Given the description of an element on the screen output the (x, y) to click on. 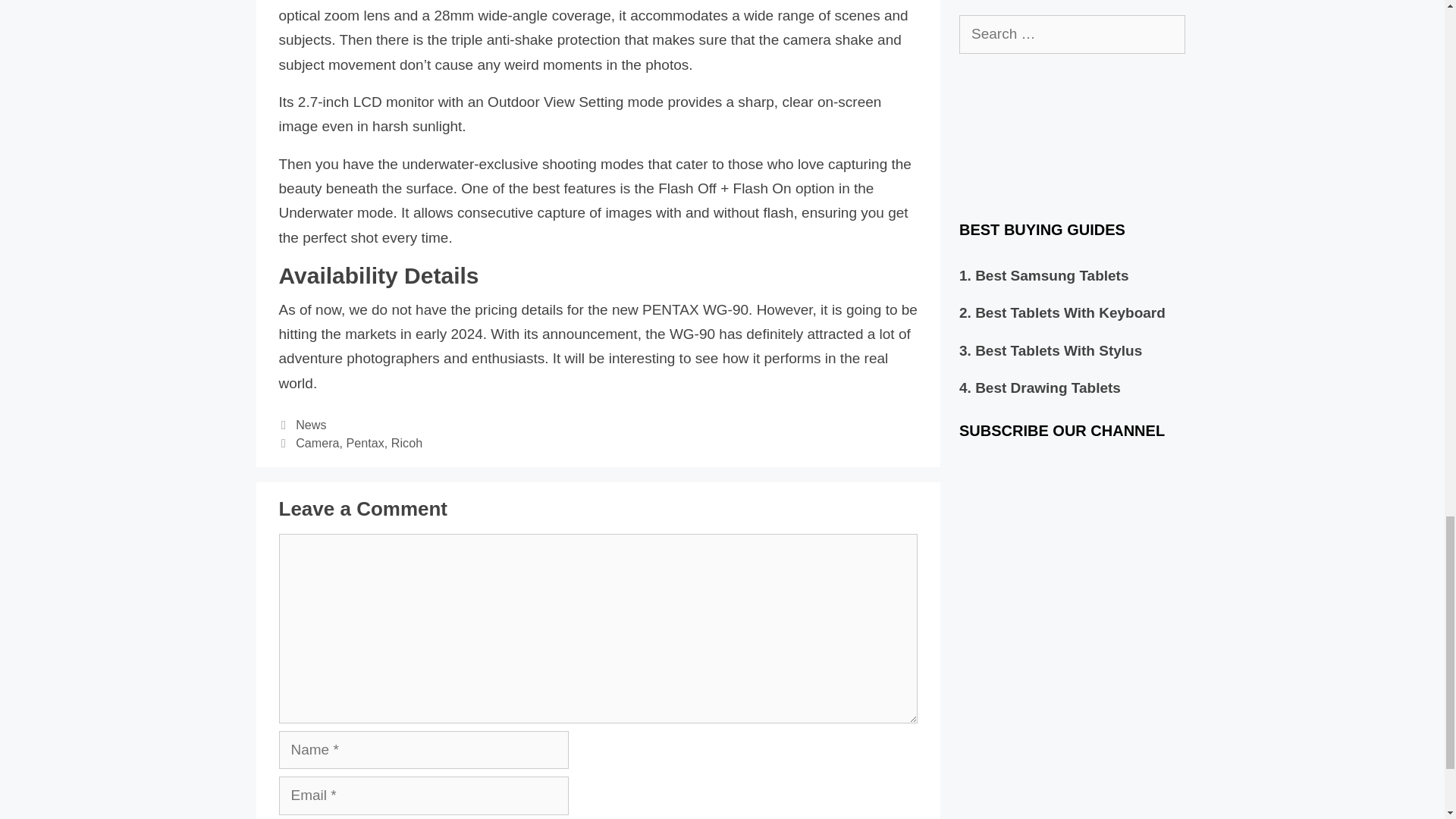
Ricoh (406, 442)
News (310, 424)
Pentax (365, 442)
Camera (317, 442)
